Given the description of an element on the screen output the (x, y) to click on. 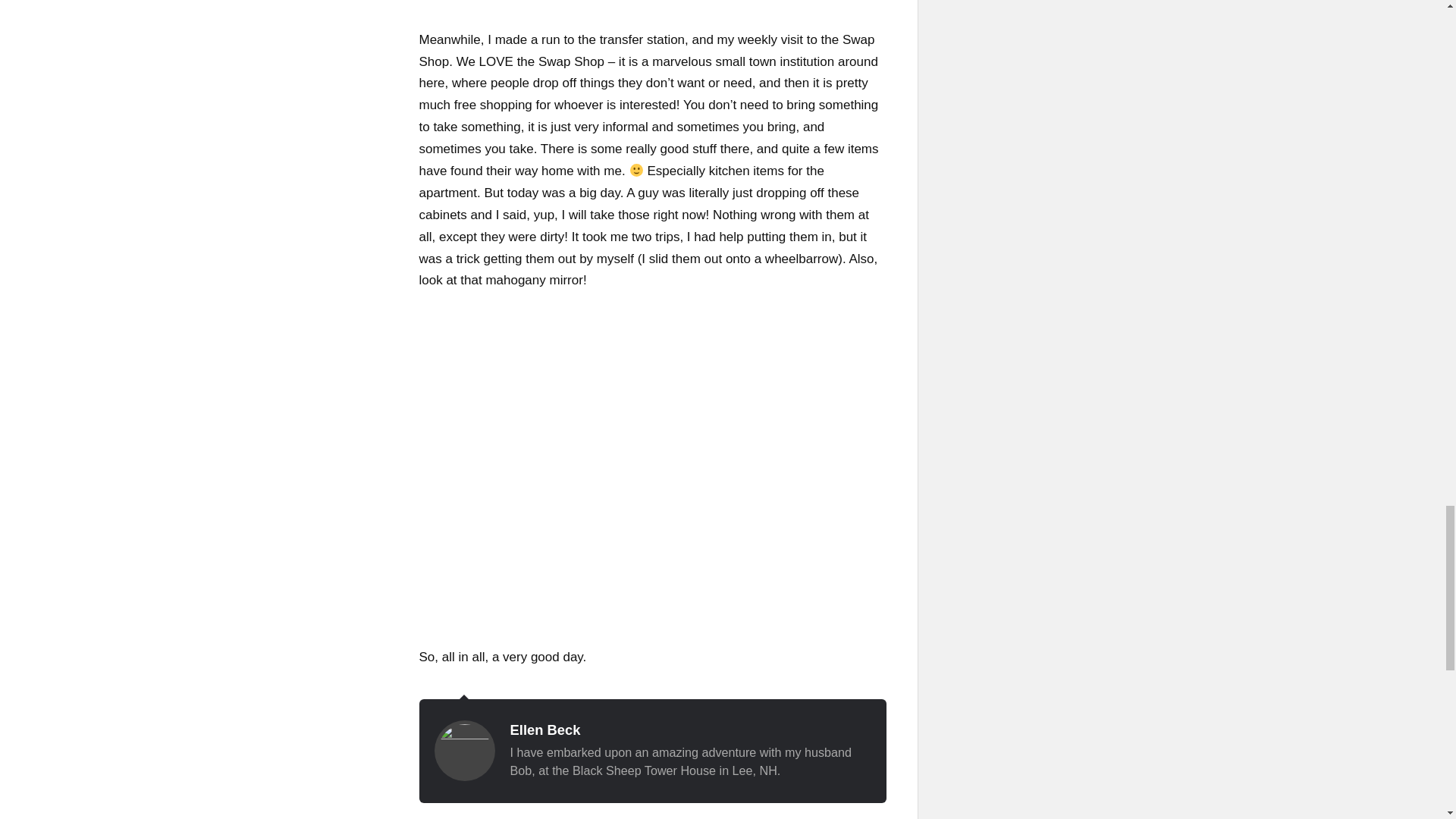
Ellen Beck (544, 729)
